Given the description of an element on the screen output the (x, y) to click on. 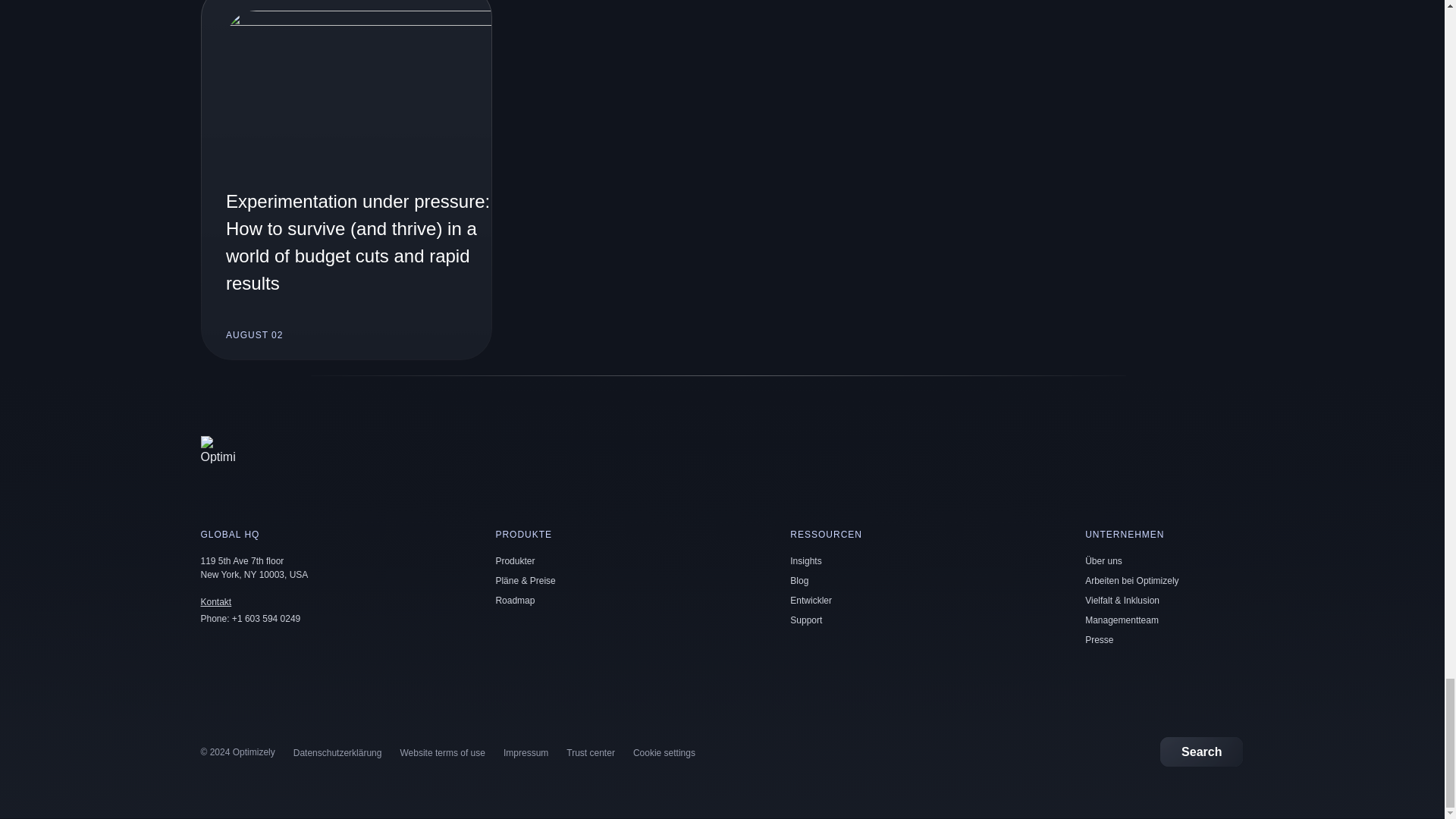
Arbeiten bei Optimizely (1130, 580)
Roadmap (514, 600)
Presse (1098, 639)
Blog (799, 580)
Kontakt (215, 602)
Insights (805, 561)
Support (806, 620)
Managementteam (1121, 620)
Website terms of use (441, 752)
Produkter (514, 561)
Kontakt (215, 602)
Entwickler (810, 600)
Impressum (525, 752)
